Given the description of an element on the screen output the (x, y) to click on. 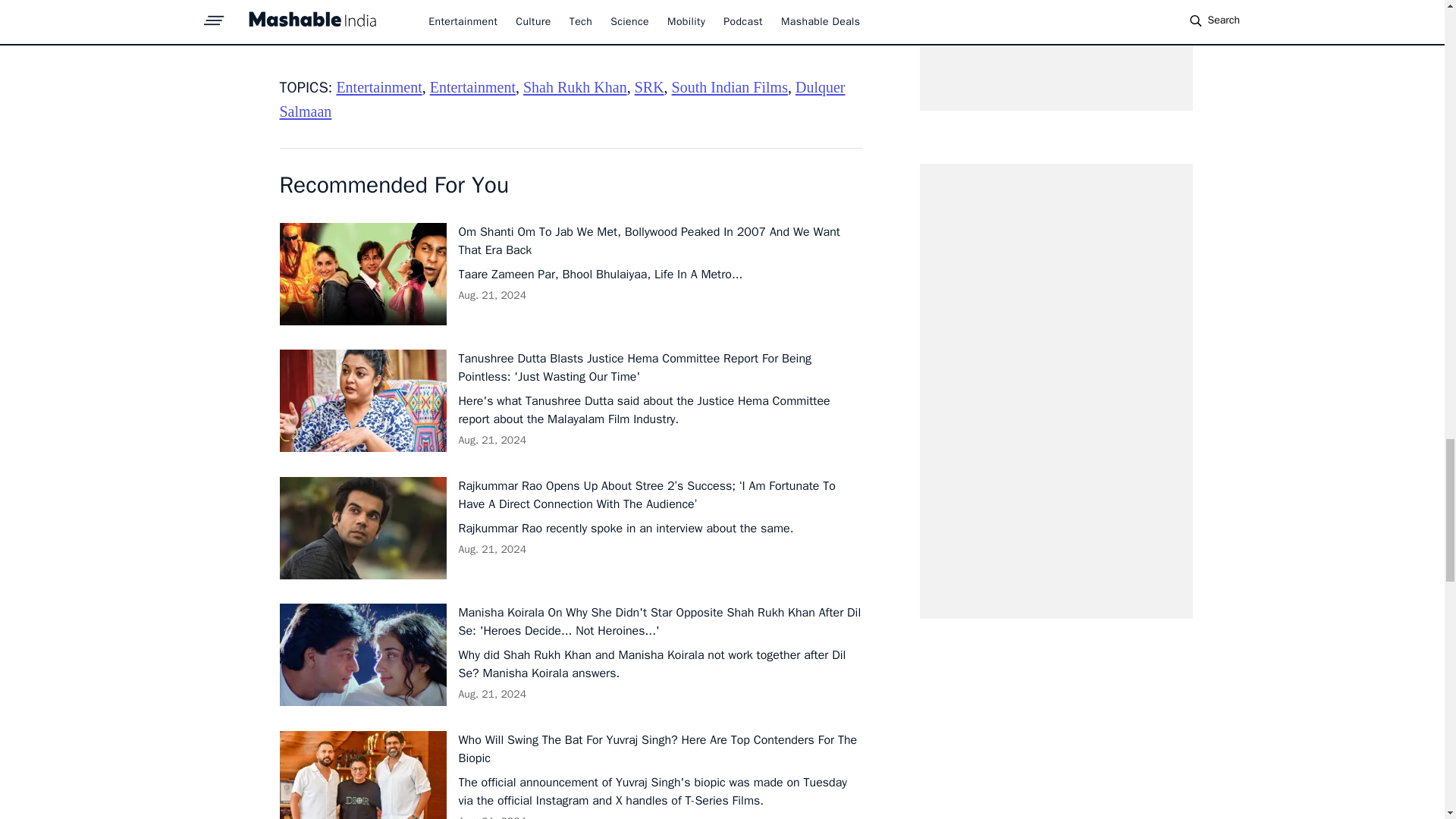
SRK (648, 86)
Entertainment (379, 86)
Entertainment (472, 86)
South Indian Films (729, 86)
Dulquer Salmaan (561, 98)
Shah Rukh Khan (574, 86)
